Given the description of an element on the screen output the (x, y) to click on. 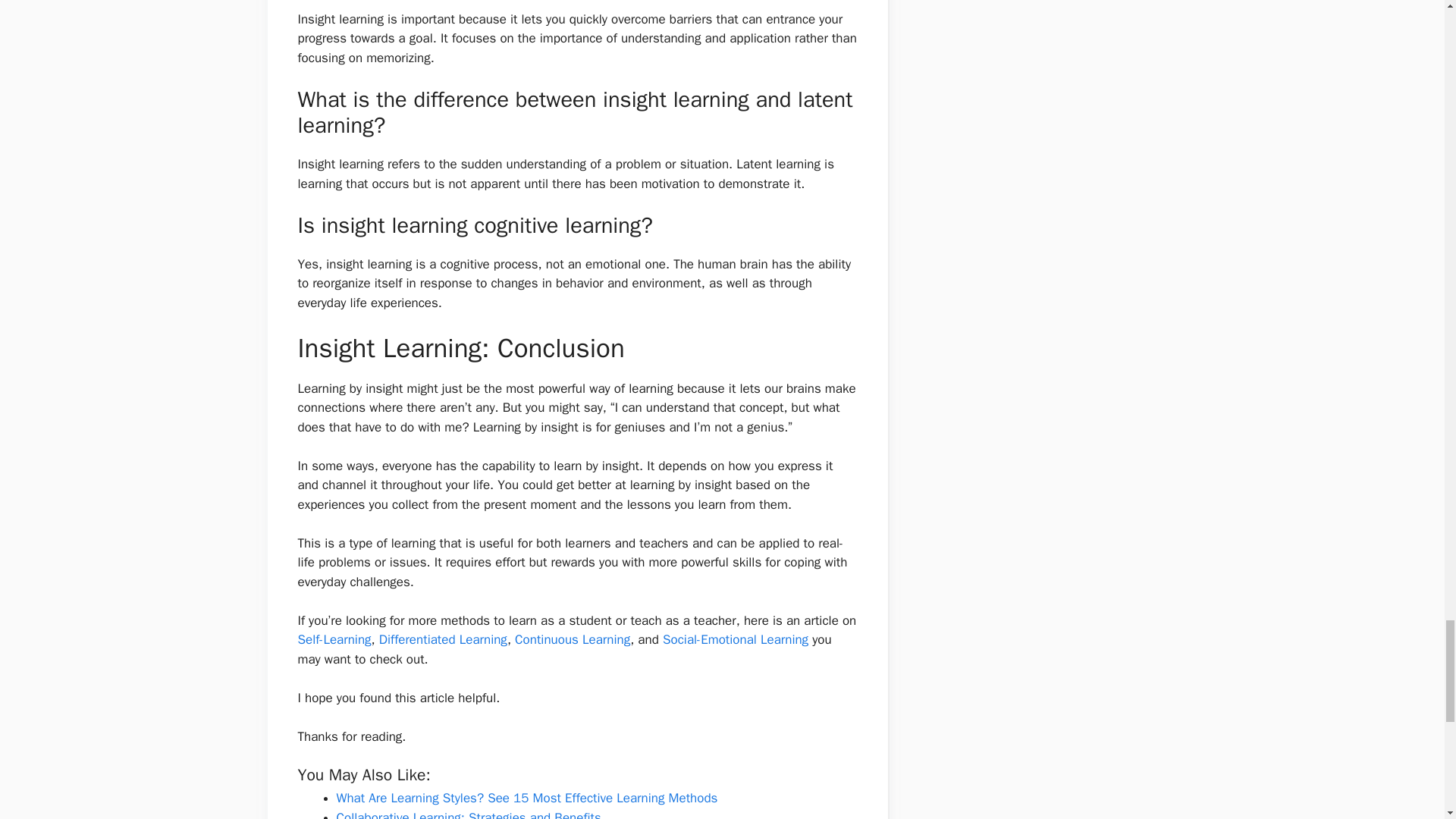
Collaborative Learning: Strategies and Benefits (468, 814)
Differentiated Learning (442, 639)
Social-Emotional Learning (735, 639)
Collaborative Learning: Strategies and Benefits (468, 814)
Self-Learning (334, 639)
Continuous Learning (572, 639)
